Given the description of an element on the screen output the (x, y) to click on. 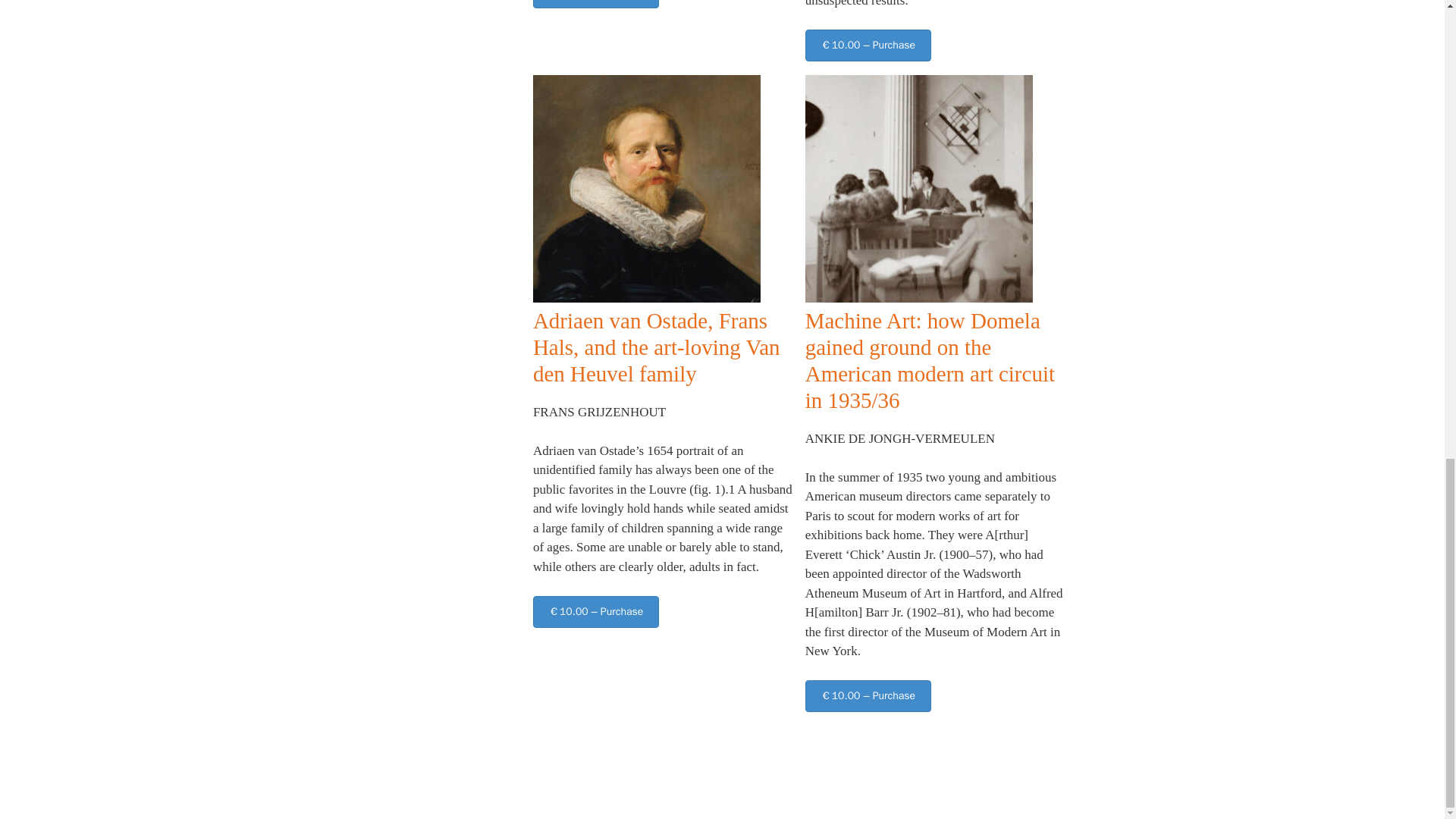
GeneratePress (789, 794)
Scroll back to top (1406, 490)
